Given the description of an element on the screen output the (x, y) to click on. 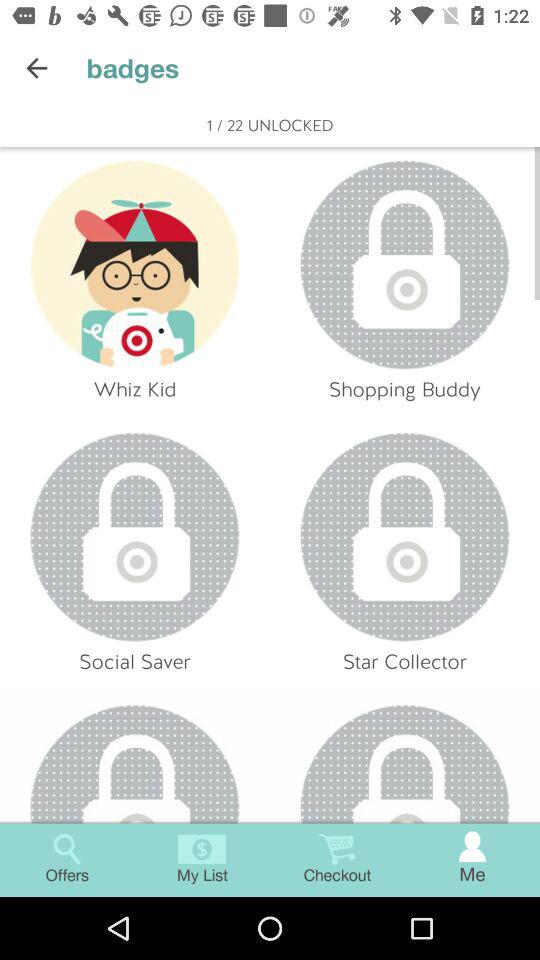
select the item to the left of badges item (36, 67)
